Given the description of an element on the screen output the (x, y) to click on. 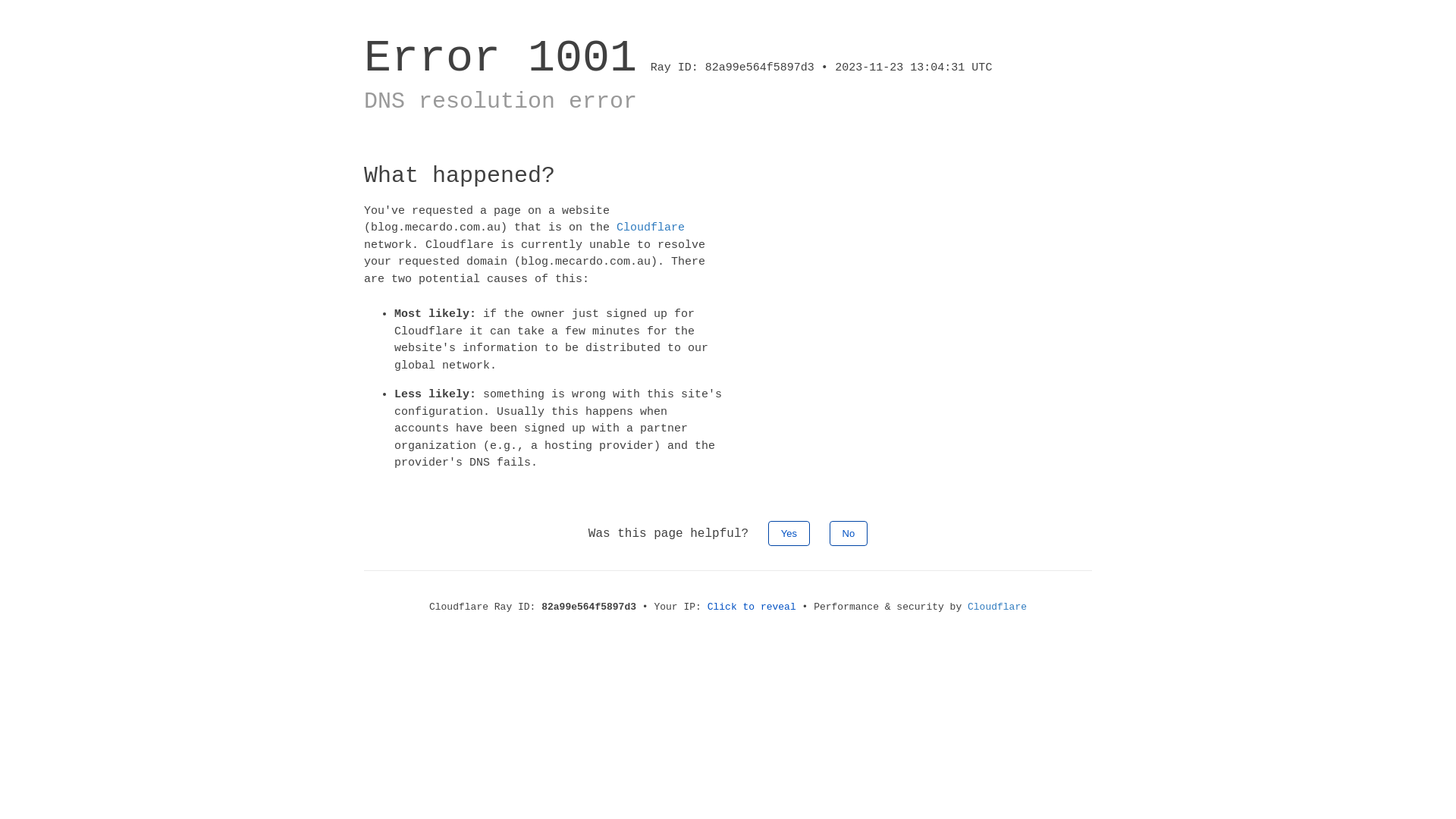
Cloudflare Element type: text (650, 227)
No Element type: text (848, 532)
Cloudflare Element type: text (996, 605)
Click to reveal Element type: text (751, 605)
Yes Element type: text (788, 532)
